Given the description of an element on the screen output the (x, y) to click on. 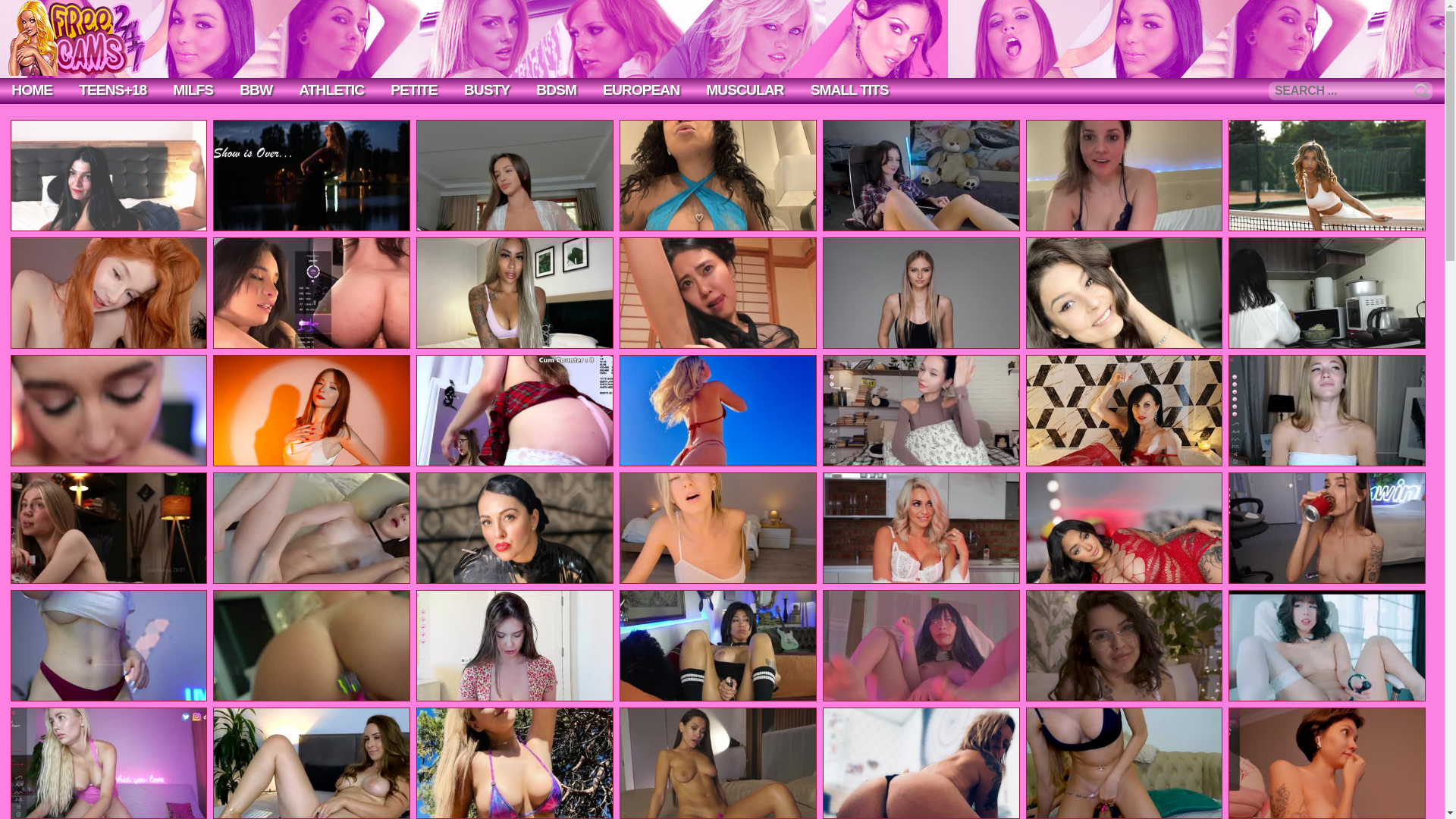
PETITE (413, 89)
SMALL TITS (848, 89)
MILFS (192, 89)
EUROPEAN (641, 89)
BUSTY (486, 89)
BBW (255, 89)
PETITE (413, 89)
BDSM (556, 89)
BBW (255, 89)
MUSCULAR (744, 89)
BDSM (556, 89)
MUSCULAR (744, 89)
MILFS (192, 89)
HOME (32, 89)
ATHLETIC (330, 89)
